Given the description of an element on the screen output the (x, y) to click on. 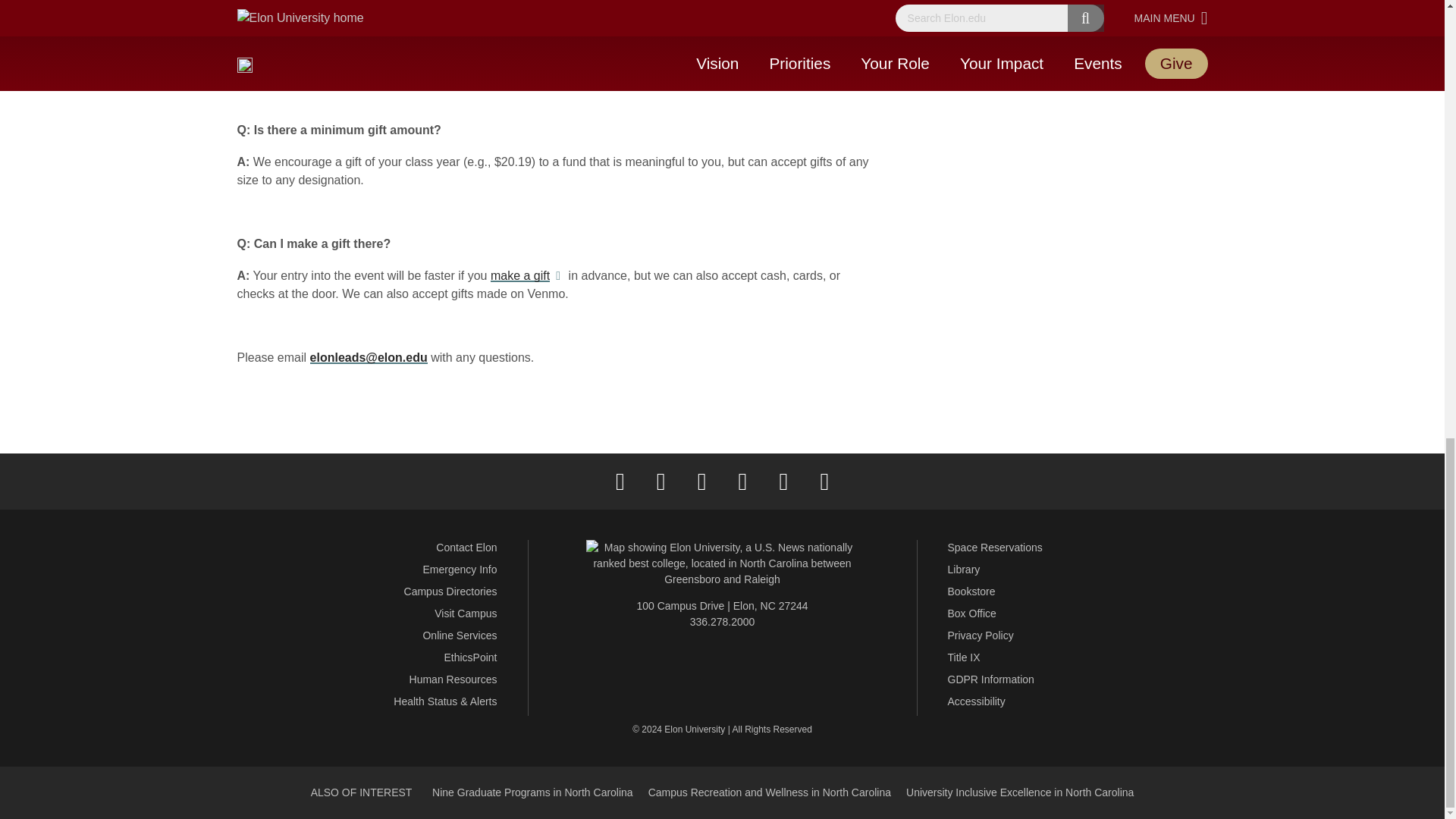
Facebook (620, 481)
LinkedIn (742, 481)
Full Social Media List (824, 481)
Instagram (701, 481)
YouTube (783, 481)
